Given the description of an element on the screen output the (x, y) to click on. 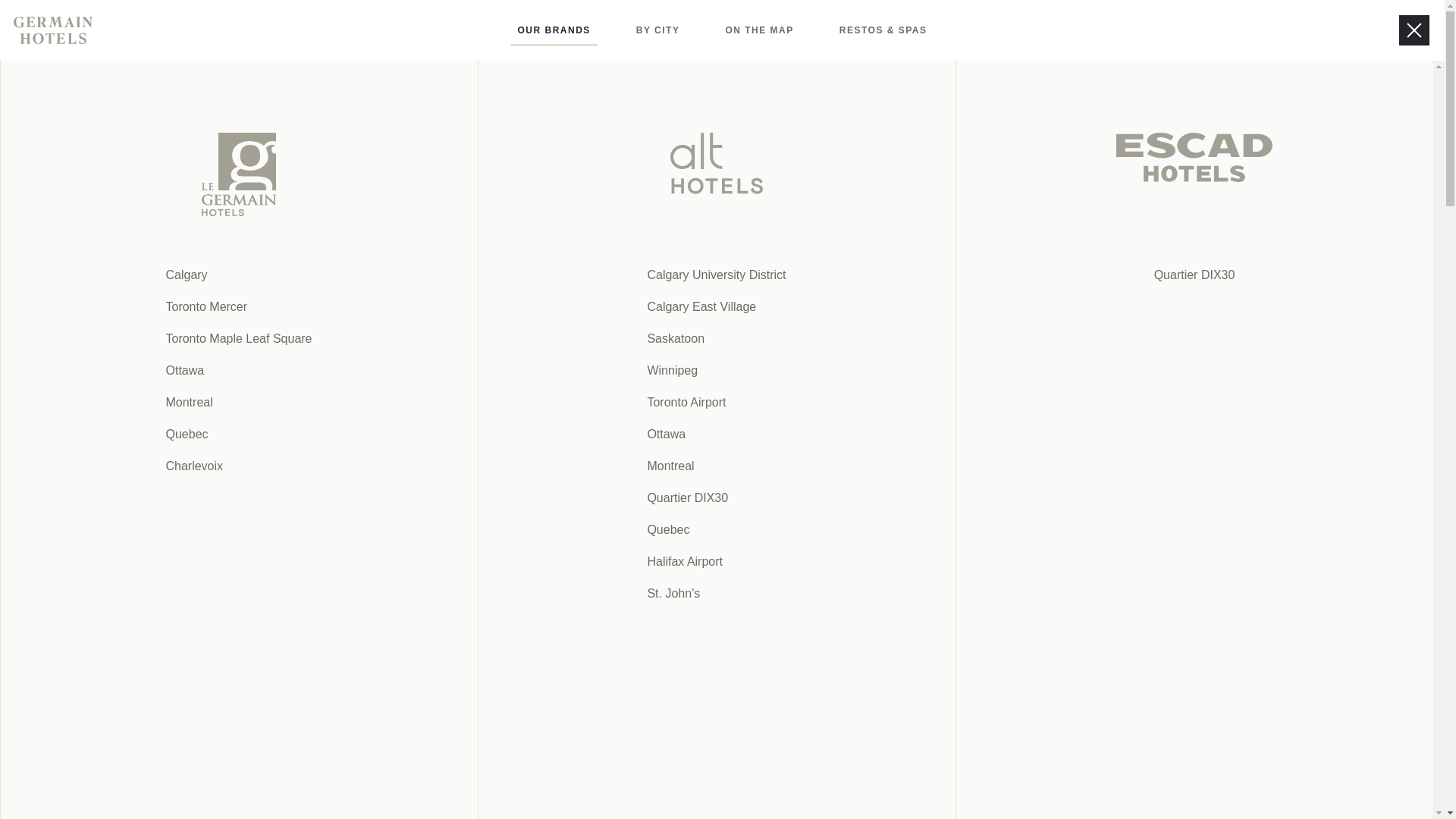
List of dog-friendly shops (675, 779)
HOTELS (520, 30)
Book here (1207, 30)
OFFERS (606, 30)
You can find the list here. (1114, 551)
ABOUT (675, 779)
BACK TO THE BLOG (932, 30)
Brossard (79, 94)
BOUTIQUE (538, 467)
